Given the description of an element on the screen output the (x, y) to click on. 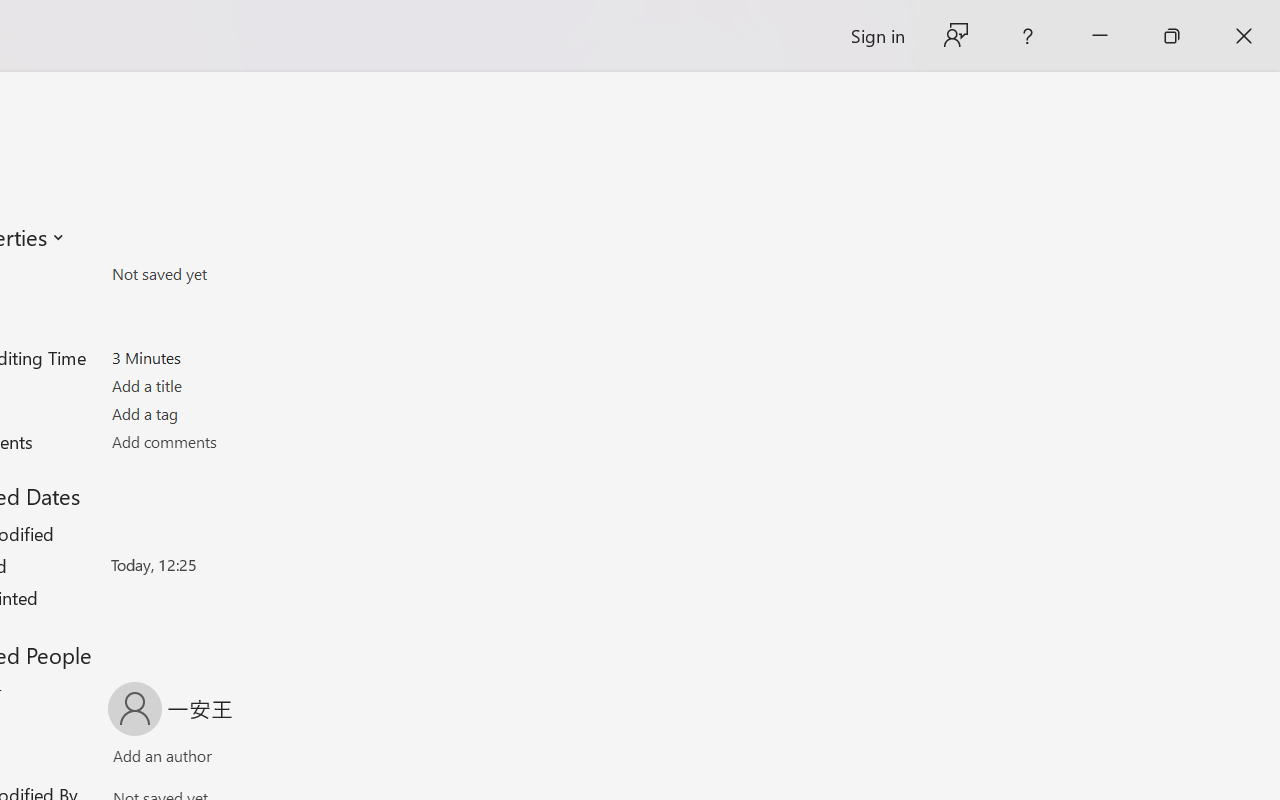
Add an author (142, 759)
